Given the description of an element on the screen output the (x, y) to click on. 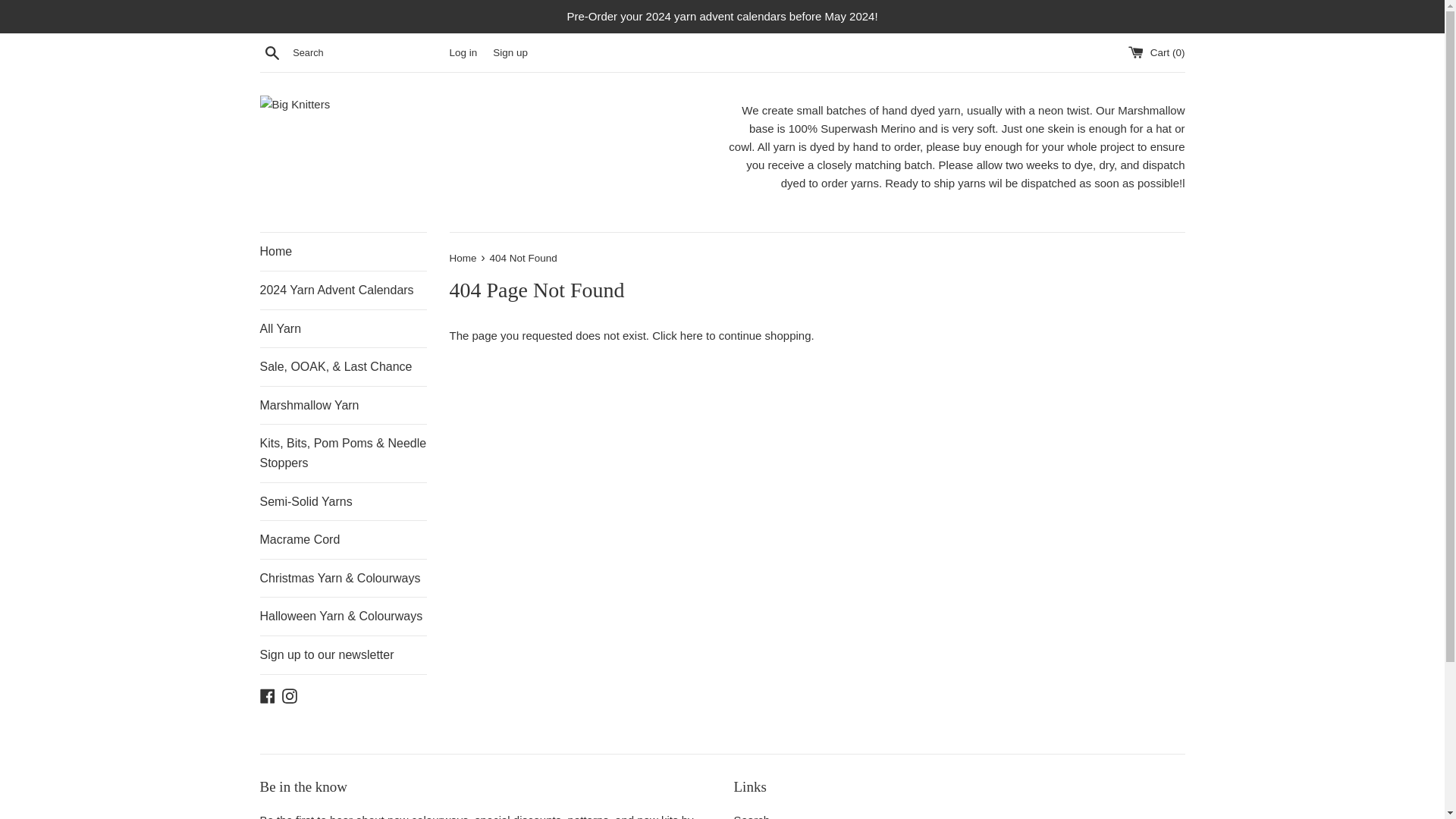
Big Knitters on Instagram (289, 694)
here (691, 335)
Instagram (289, 694)
Back to the frontpage (463, 257)
Log in (462, 52)
Sign up to our newsletter (342, 655)
Search (271, 52)
Semi-Solid Yarns (342, 501)
All Yarn (342, 329)
Sign up (510, 52)
